Given the description of an element on the screen output the (x, y) to click on. 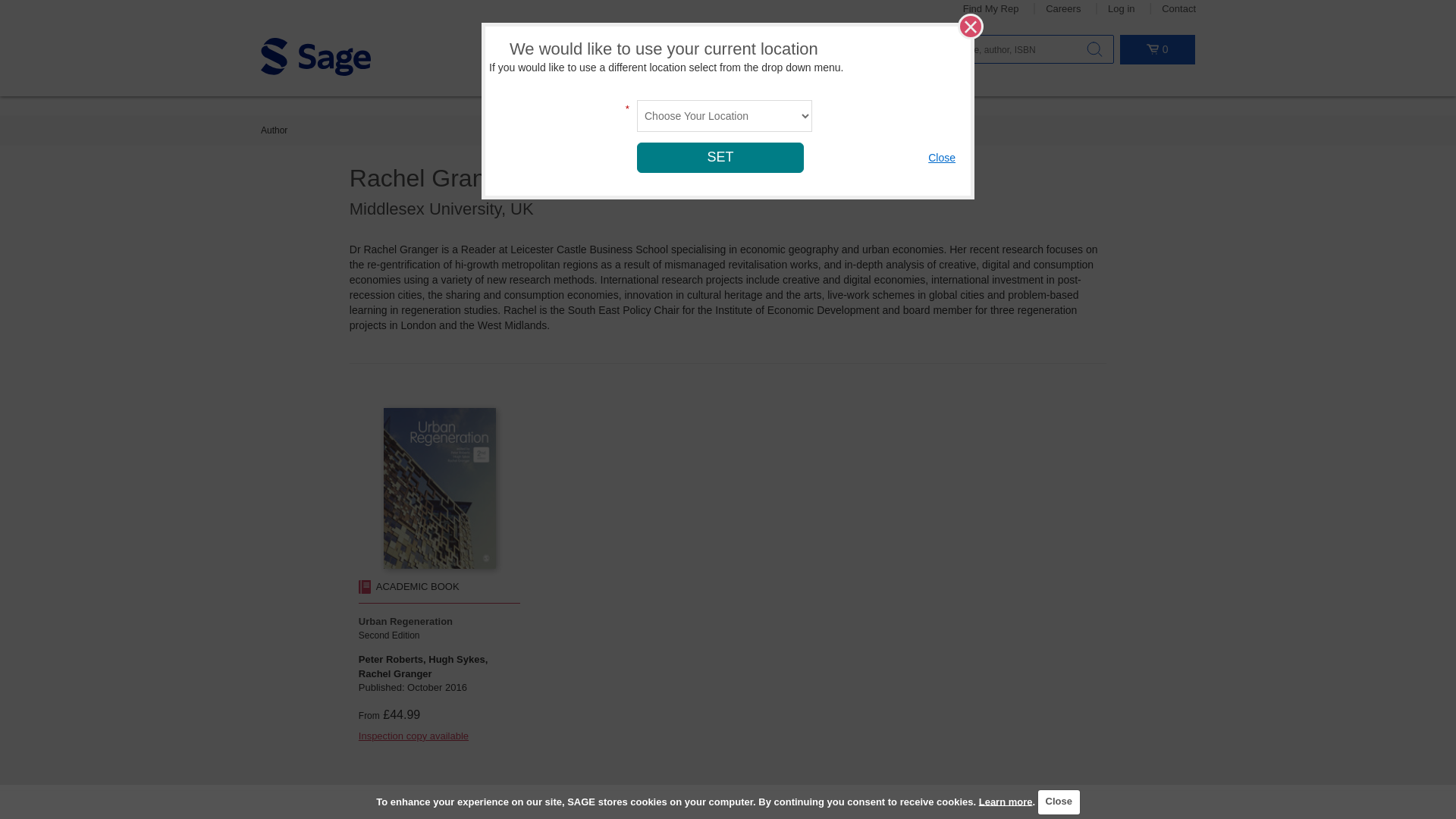
Disciplines (515, 53)
Sage: User login (1121, 8)
ACADEMIC-ICON CREATED WITH SKETCH. (364, 586)
Contact (1178, 8)
Log in (1121, 8)
Set (720, 157)
Search (1094, 48)
Careers (1062, 8)
Sage logo: link back to homepage (315, 56)
Find My Rep (990, 8)
